Given the description of an element on the screen output the (x, y) to click on. 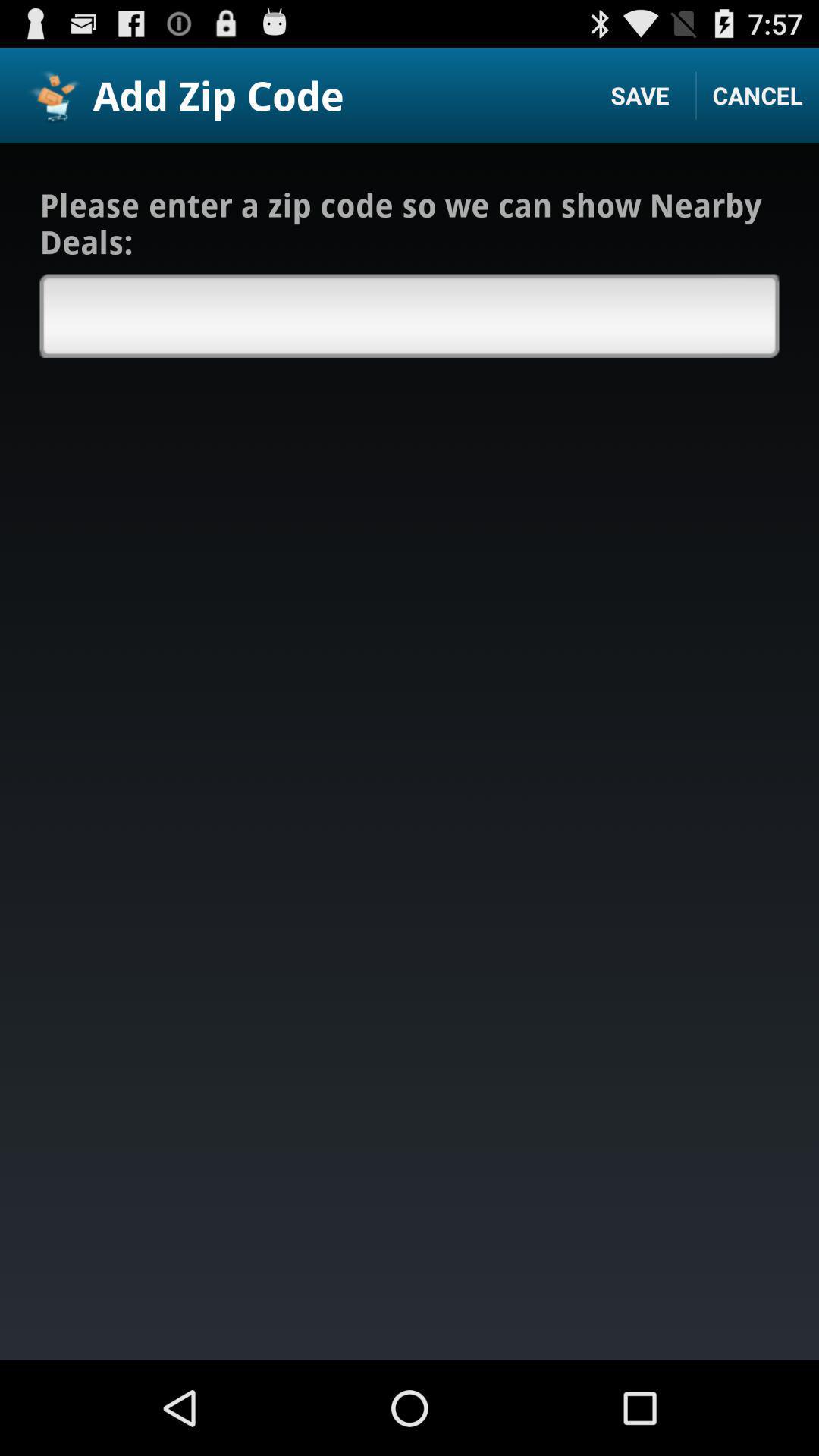
enter zip code (409, 315)
